Given the description of an element on the screen output the (x, y) to click on. 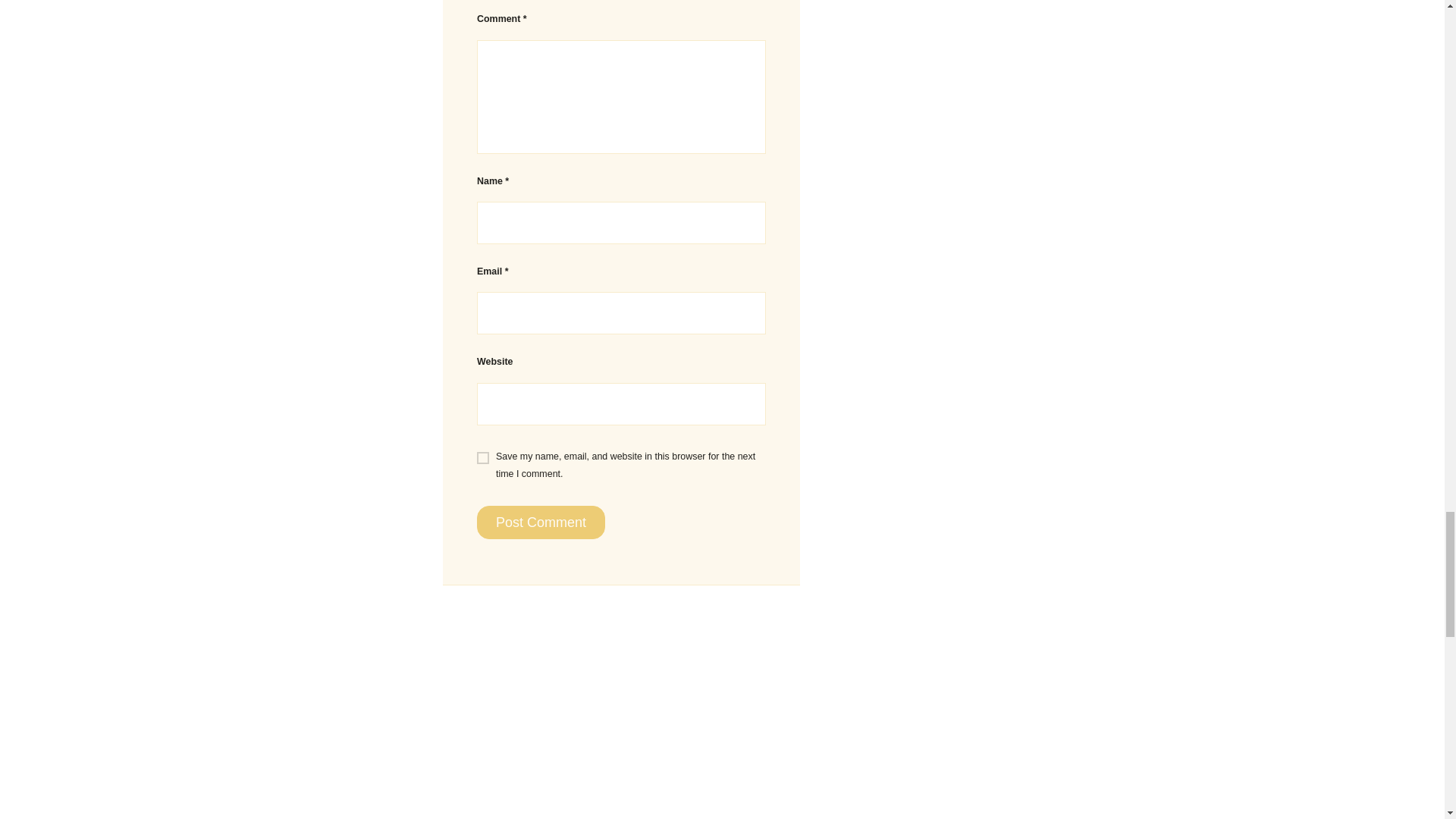
Post Comment (541, 522)
